Given the description of an element on the screen output the (x, y) to click on. 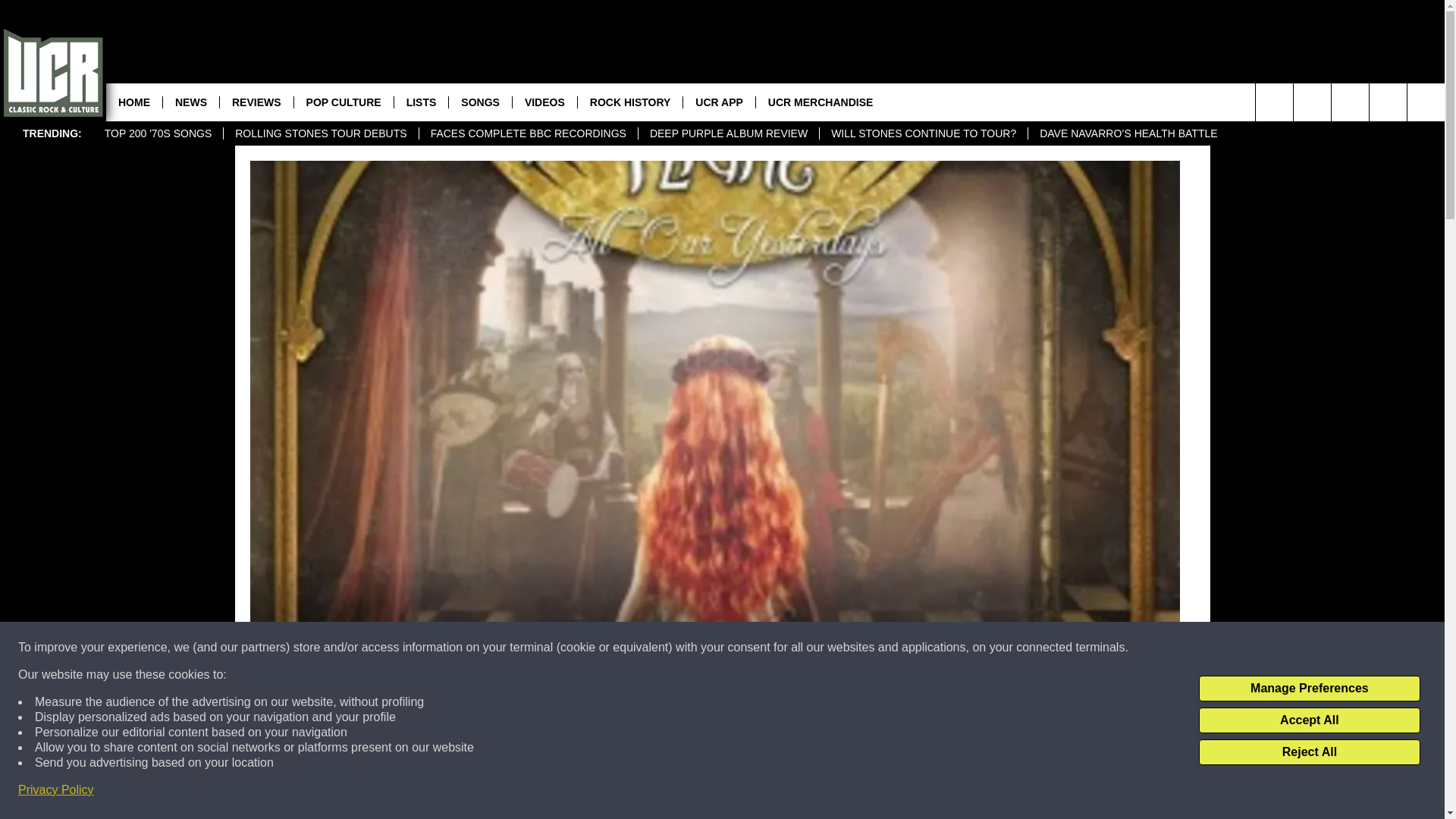
TWEET (912, 791)
Visit us on Facebook (1388, 102)
DEEP PURPLE ALBUM REVIEW (727, 133)
Visit us on Youtube (1350, 102)
Reject All (1309, 751)
TOP 200 '70S SONGS (157, 133)
UCR APP (718, 102)
Accept All (1309, 720)
LISTS (420, 102)
Privacy Policy (55, 789)
Jeff Giles (323, 705)
NEWS (190, 102)
VIDEOS (544, 102)
SHARE (517, 791)
Jeff Giles (278, 705)
